Given the description of an element on the screen output the (x, y) to click on. 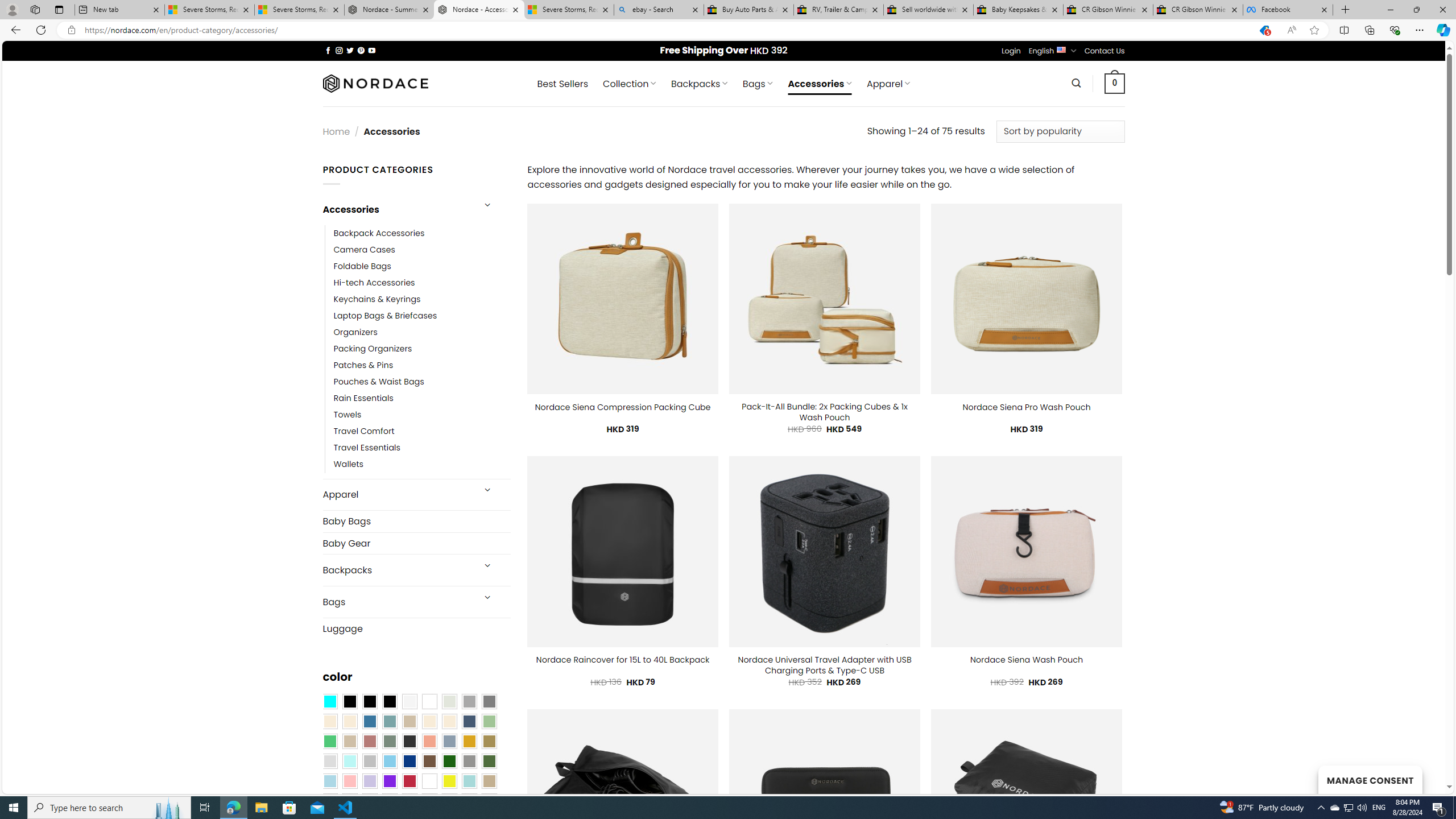
Rose (369, 741)
Rain Essentials (363, 398)
Camera Cases (422, 248)
Navy Blue (408, 761)
Backpack Accessories (422, 232)
Collections (1369, 29)
Ash Gray (449, 701)
App bar (728, 29)
Contact Us (1104, 50)
Baby Gear (416, 543)
Home (335, 131)
Nordace Raincover for 15L to 40L Backpack (622, 659)
Minimize (1390, 9)
